Given the description of an element on the screen output the (x, y) to click on. 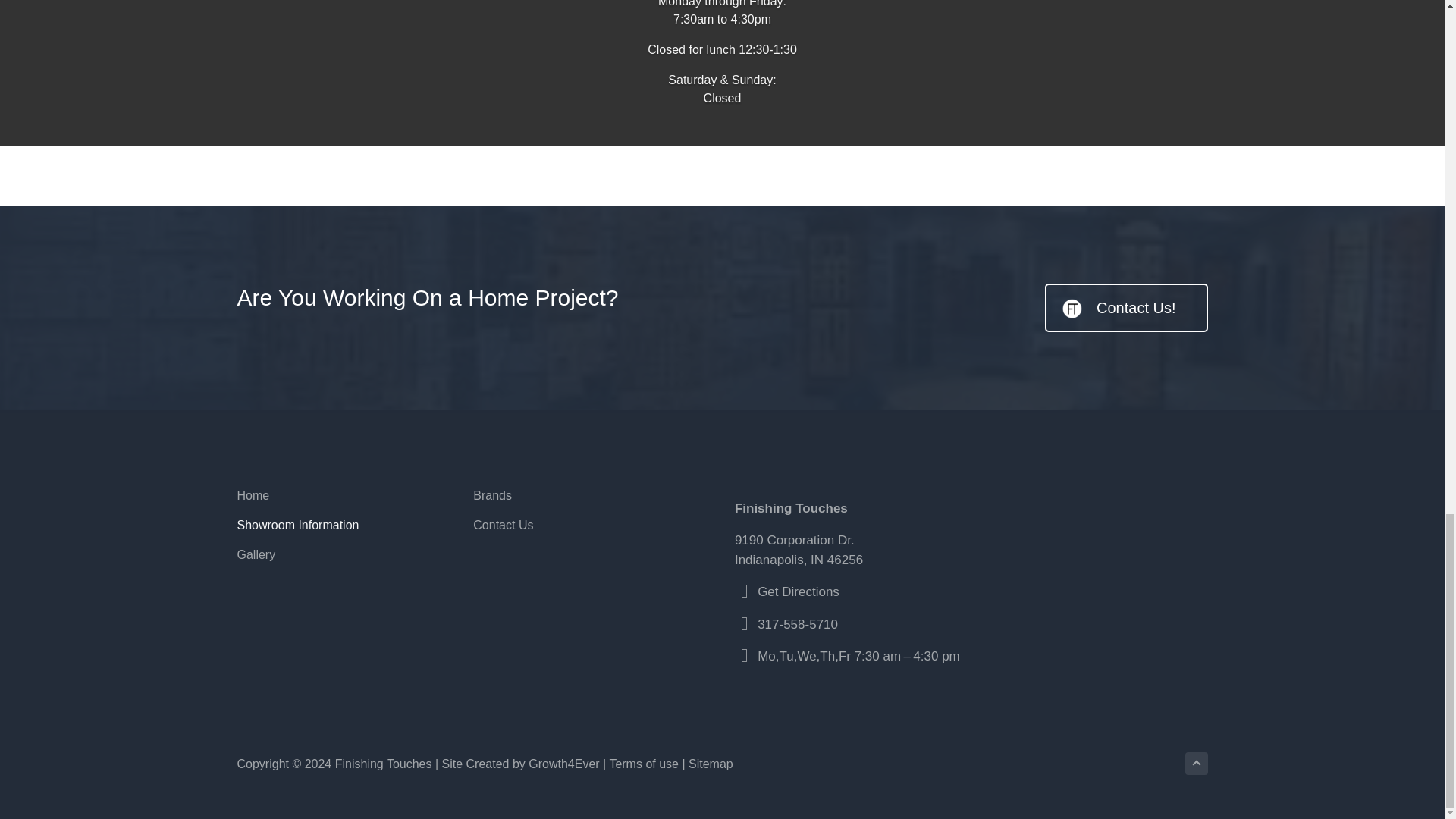
Contact Us (591, 525)
Home (354, 496)
Get Directions (798, 591)
Brands (591, 496)
Contact Us! (1126, 307)
Sitemap (710, 763)
Gallery (354, 555)
Showroom Information (354, 525)
317-558-5710 (797, 624)
Growth4Ever (563, 763)
